Given the description of an element on the screen output the (x, y) to click on. 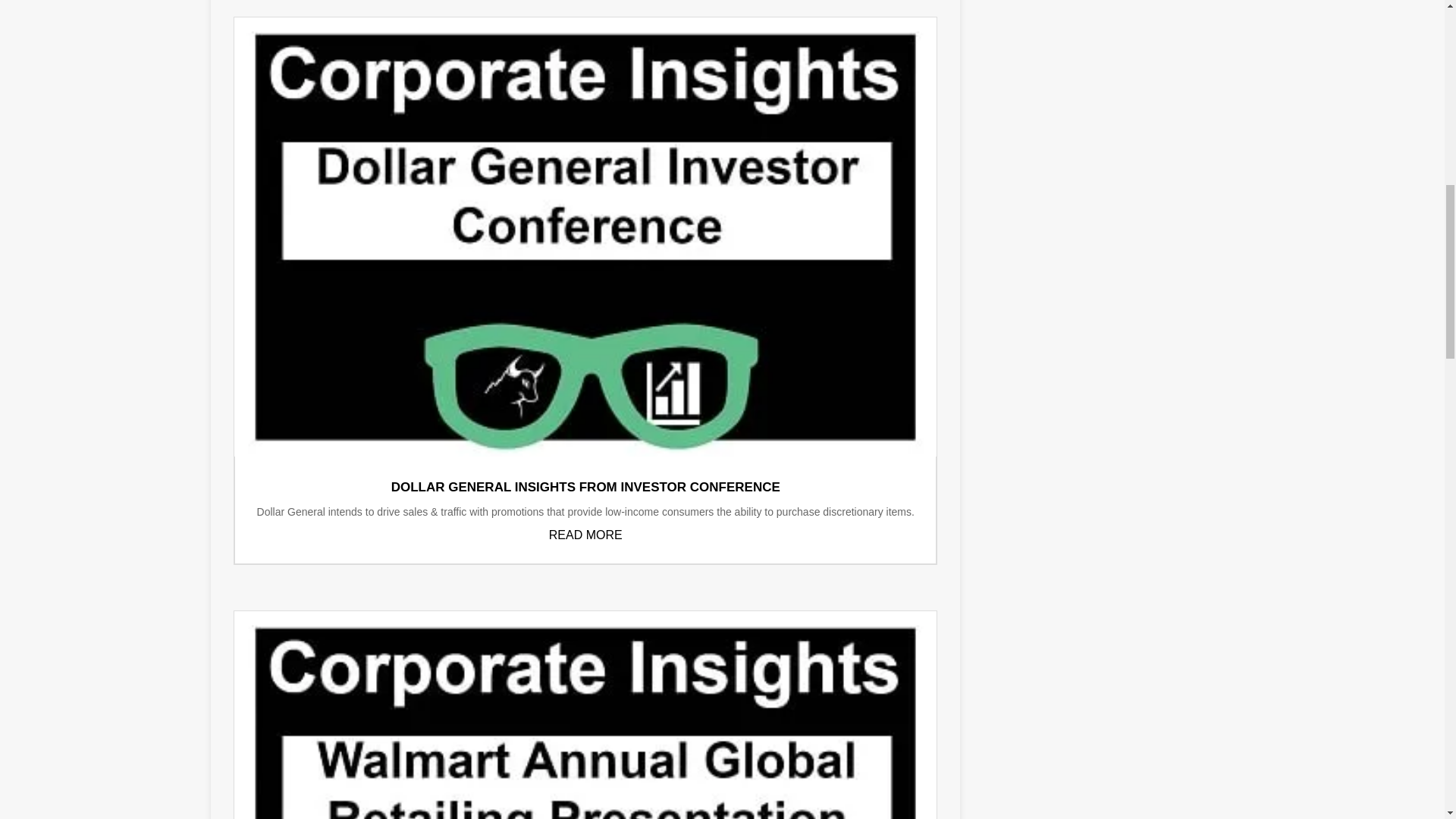
READ MORE (585, 534)
DOLLAR GENERAL INSIGHTS FROM INVESTOR CONFERENCE (585, 486)
